Given the description of an element on the screen output the (x, y) to click on. 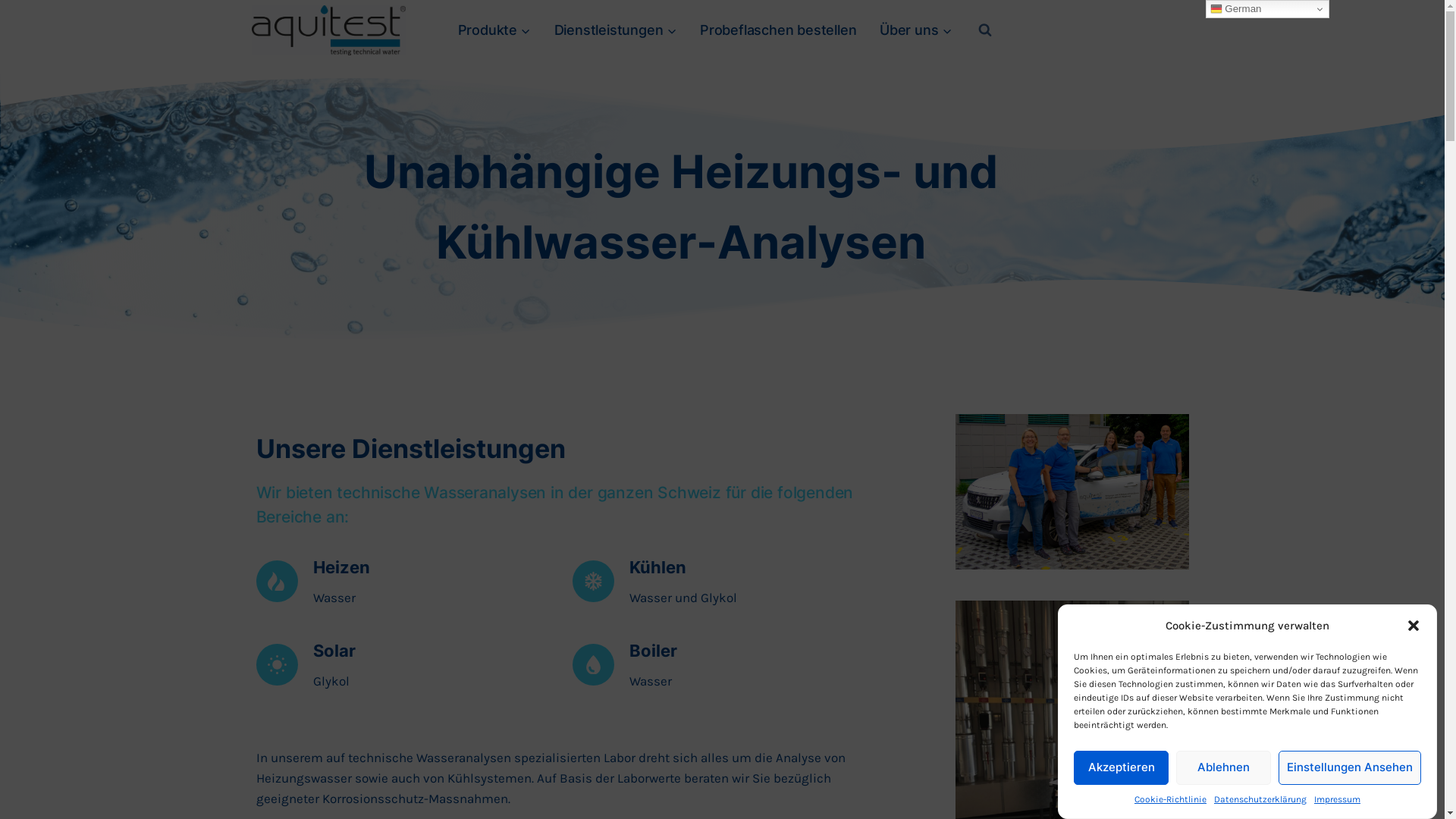
Probeflaschen bestellen Element type: text (778, 29)
Produkte Element type: text (493, 29)
Einstellungen Ansehen Element type: text (1349, 767)
Dienstleistungen Element type: text (614, 29)
Cookie-Richtlinie Element type: text (1170, 799)
German Element type: text (1267, 9)
Impressum Element type: text (1337, 799)
Akzeptieren Element type: text (1120, 767)
Ablehnen Element type: text (1223, 767)
